Given the description of an element on the screen output the (x, y) to click on. 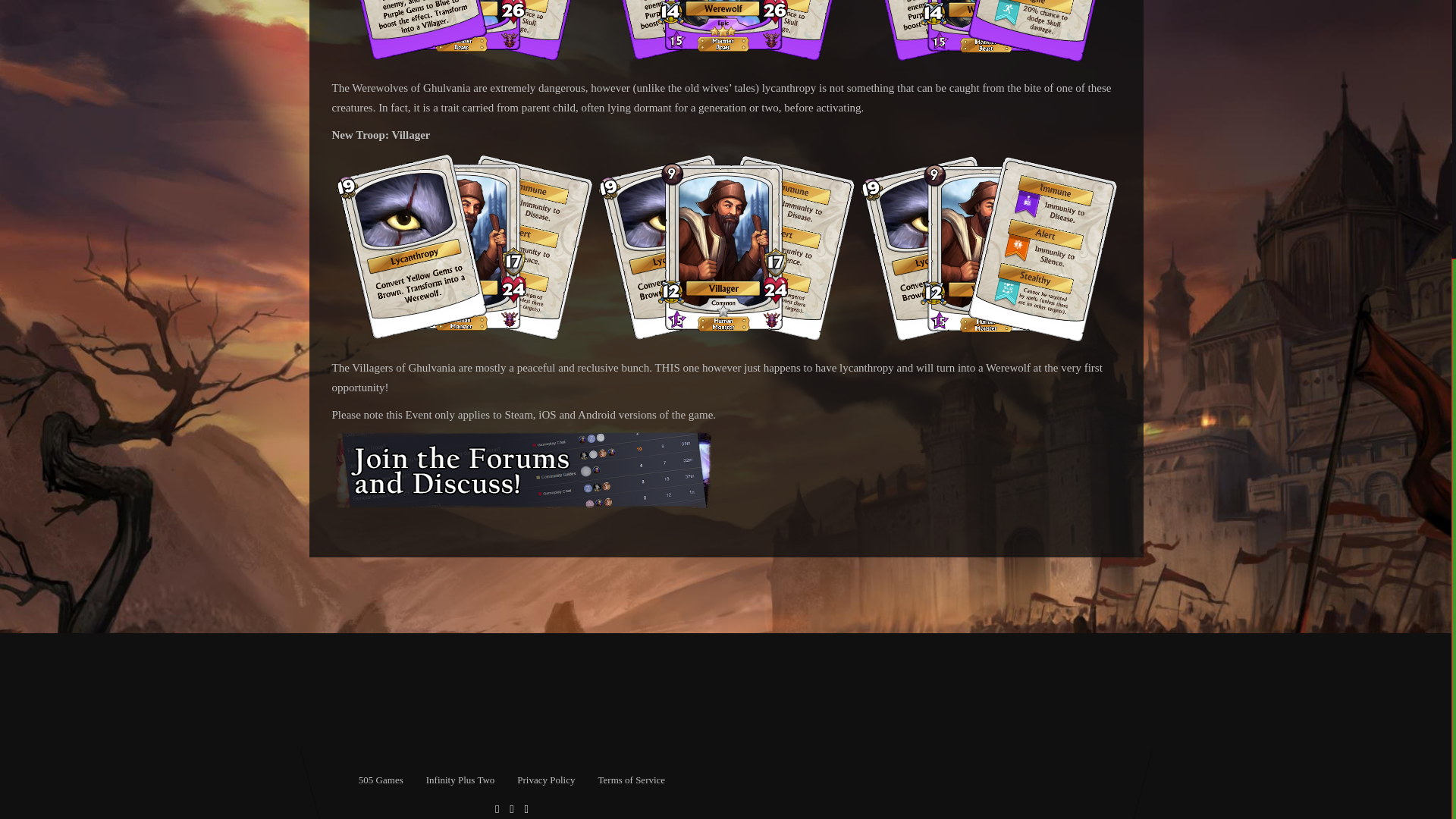
Privacy Policy (545, 779)
505 Games (380, 779)
Infinity Plus Two (460, 779)
